Given the description of an element on the screen output the (x, y) to click on. 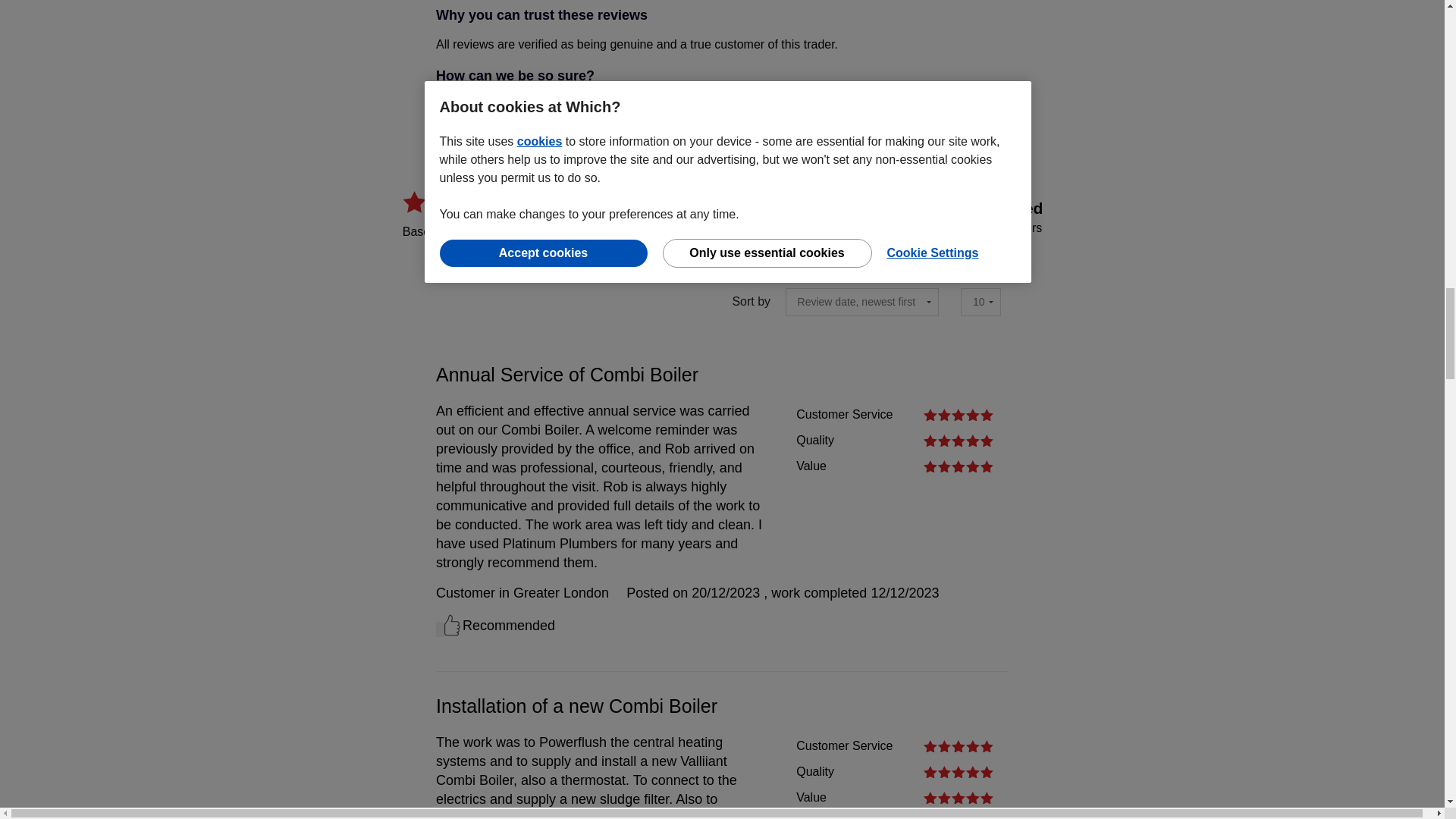
4.920634920634921 (791, 228)
5 (957, 465)
5 (957, 414)
4.9523809523809526 (791, 198)
5 (957, 746)
4.9603174603174605 (791, 168)
5 (957, 440)
